Given the description of an element on the screen output the (x, y) to click on. 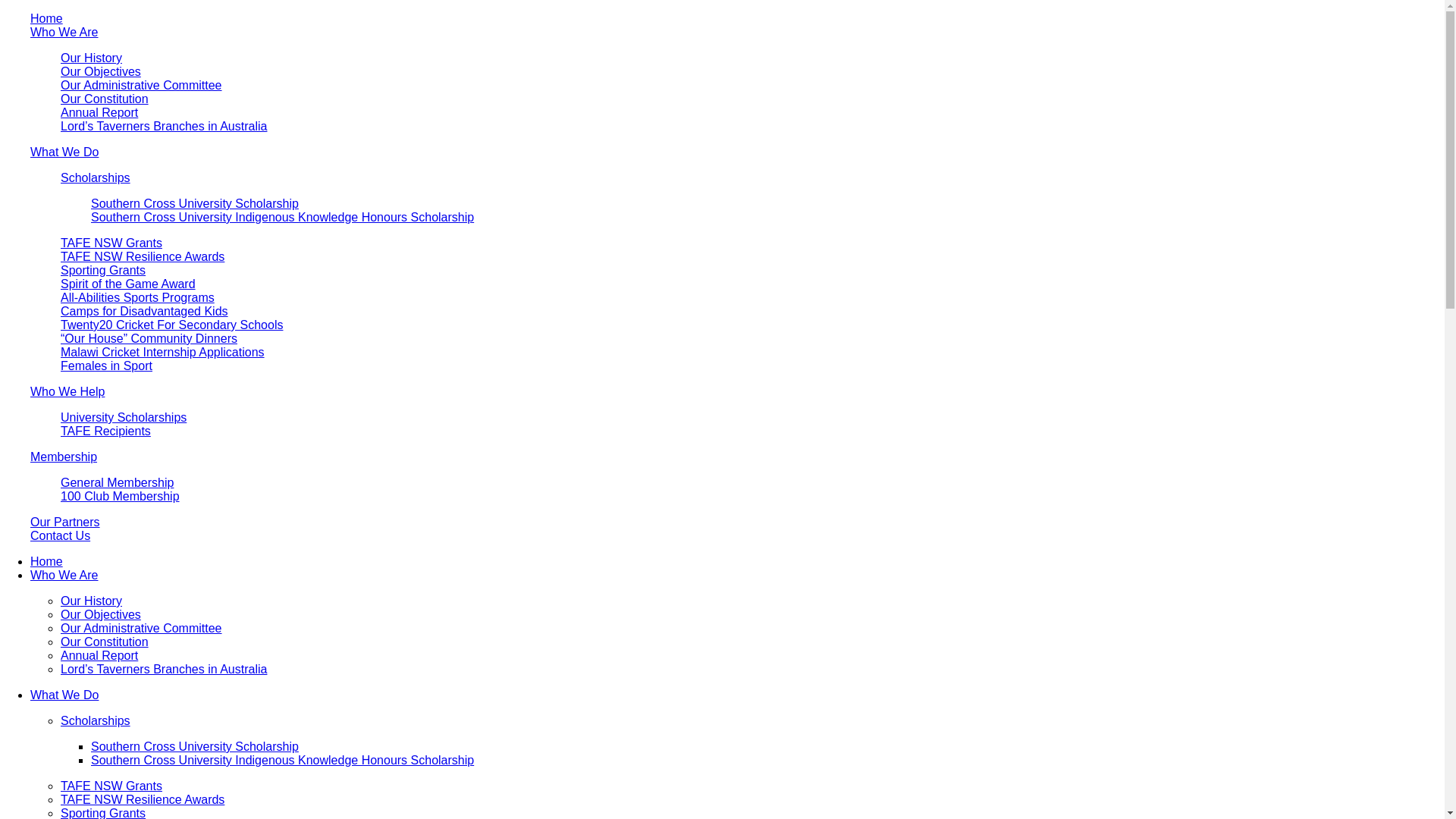
Females in Sport Element type: text (106, 365)
Membership Element type: text (63, 456)
100 Club Membership Element type: text (119, 495)
All-Abilities Sports Programs Element type: text (137, 297)
Southern Cross University Scholarship Element type: text (194, 746)
Our Administrative Committee Element type: text (141, 84)
Contact Us Element type: text (60, 535)
Spirit of the Game Award Element type: text (127, 283)
Home Element type: text (46, 18)
TAFE NSW Grants Element type: text (111, 242)
University Scholarships Element type: text (123, 417)
Malawi Cricket Internship Applications Element type: text (162, 351)
Our Objectives Element type: text (100, 71)
Our History Element type: text (91, 600)
Our Constitution Element type: text (104, 641)
Annual Report Element type: text (99, 112)
Our Administrative Committee Element type: text (141, 627)
Annual Report Element type: text (99, 655)
Our Constitution Element type: text (104, 98)
Our Partners Element type: text (65, 521)
TAFE NSW Grants Element type: text (111, 785)
What We Do Element type: text (64, 694)
TAFE NSW Resilience Awards Element type: text (142, 256)
Home Element type: text (46, 561)
Who We Are Element type: text (64, 574)
Our Objectives Element type: text (100, 614)
General Membership Element type: text (116, 482)
Who We Help Element type: text (67, 391)
Scholarships Element type: text (95, 720)
Our History Element type: text (91, 57)
Who We Are Element type: text (64, 31)
Twenty20 Cricket For Secondary Schools Element type: text (171, 324)
Southern Cross University Scholarship Element type: text (194, 203)
TAFE NSW Resilience Awards Element type: text (142, 799)
Camps for Disadvantaged Kids Element type: text (144, 310)
Sporting Grants Element type: text (102, 269)
What We Do Element type: text (64, 151)
Scholarships Element type: text (95, 177)
TAFE Recipients Element type: text (105, 430)
